Given the description of an element on the screen output the (x, y) to click on. 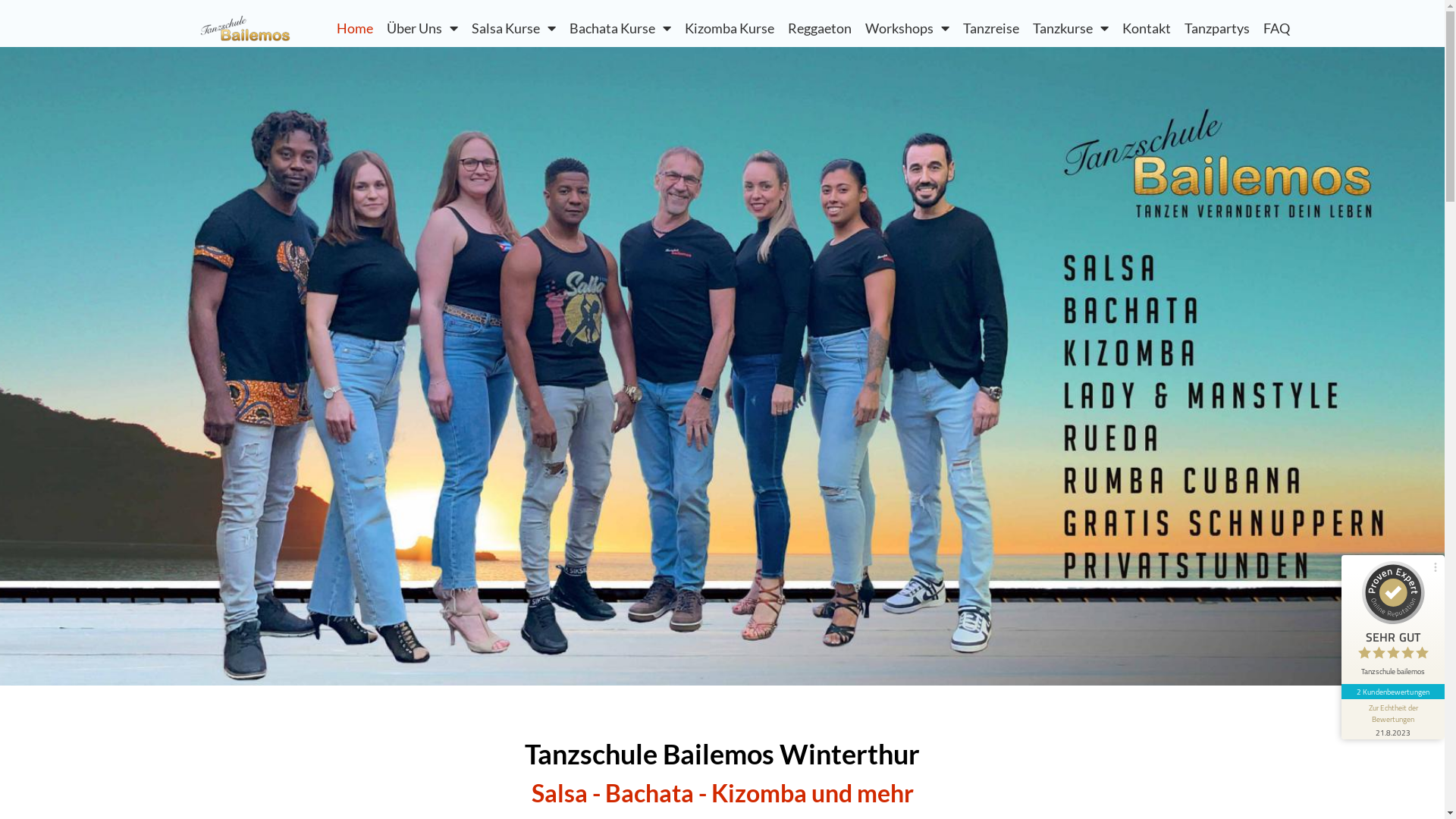
Tanzkurse Element type: text (1070, 27)
Vorherige Kundenstimme Element type: hover (1423, 674)
Tanzpartys Element type: text (1216, 27)
Kizomba Kurse Element type: text (729, 27)
Reggaeton Element type: text (819, 27)
Profil ansehen Element type: text (1246, 594)
Kontakt Element type: text (1146, 27)
Bachata Kurse Element type: text (620, 27)
Tanzreise Element type: text (991, 27)
FAQ Element type: text (1276, 27)
Workshops Element type: text (907, 27)
Home Element type: text (354, 27)
Salsa Kurse Element type: text (513, 27)
Zur Echtheit der
Bewertungen
21.8.2023 Element type: text (1392, 719)
